Given the description of an element on the screen output the (x, y) to click on. 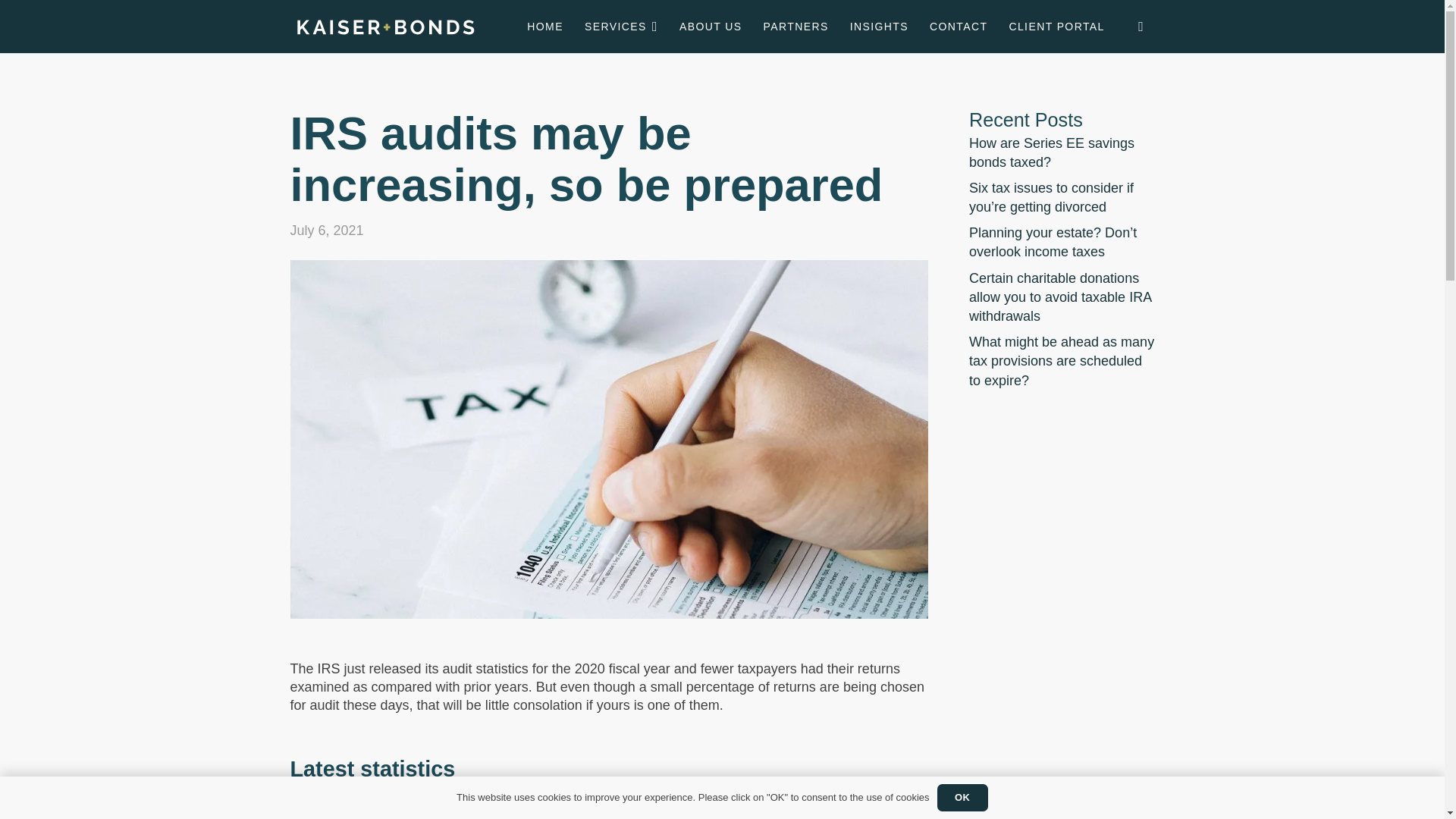
ABOUT US (710, 26)
PARTNERS (795, 26)
LinkedIn (1140, 26)
CLIENT PORTAL (1056, 26)
SERVICES (620, 26)
How are Series EE savings bonds taxed? (1051, 152)
HOME (544, 26)
CONTACT (957, 26)
INSIGHTS (879, 26)
OK (962, 797)
